Given the description of an element on the screen output the (x, y) to click on. 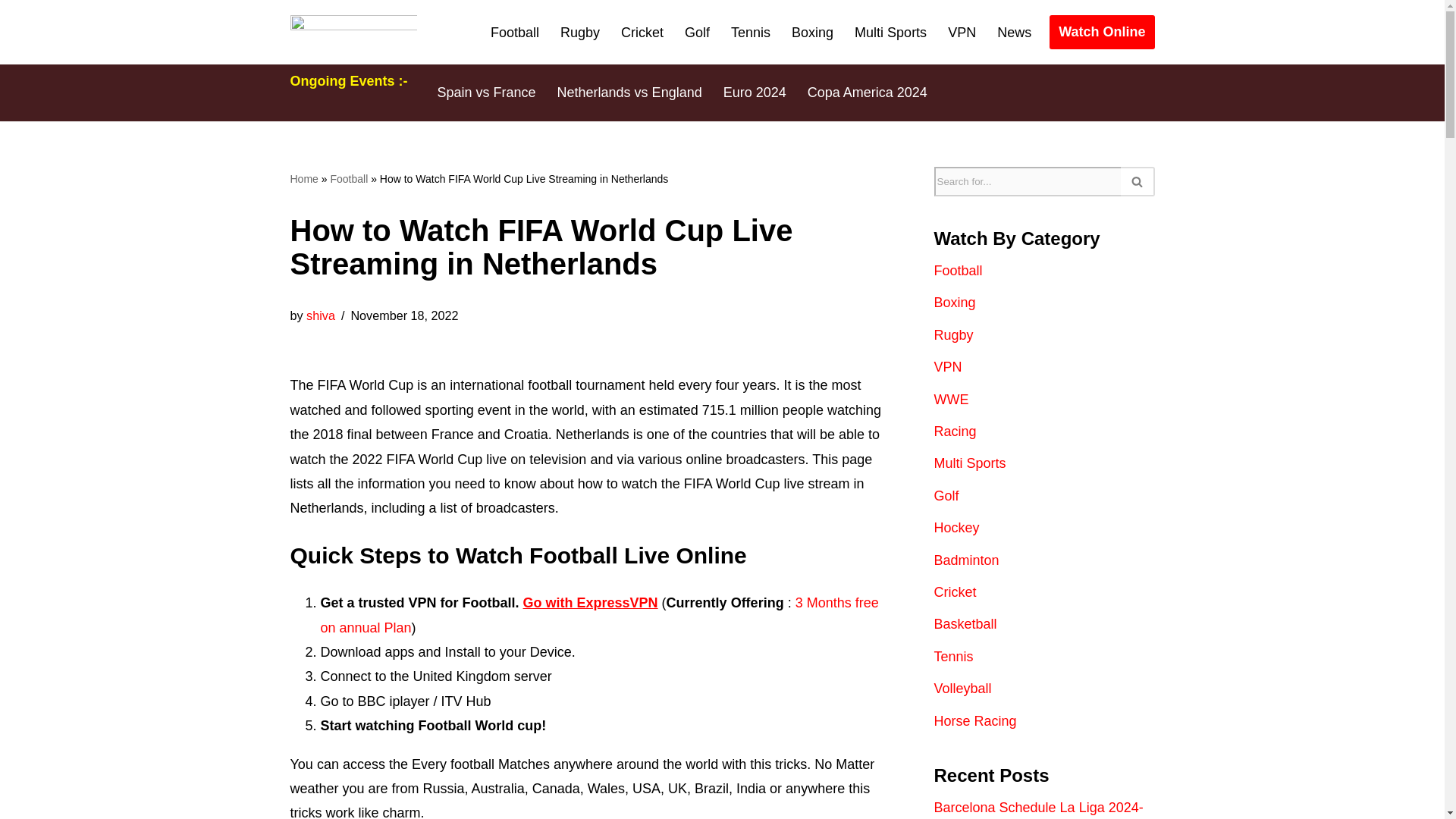
Rugby (579, 32)
Cricket (642, 32)
Tennis (750, 32)
Home (303, 178)
Posts by shiva (319, 315)
Skip to content (11, 31)
Football (349, 178)
Euro 2024 (754, 92)
VPN (961, 32)
ExpressVPN Football (590, 602)
